Given the description of an element on the screen output the (x, y) to click on. 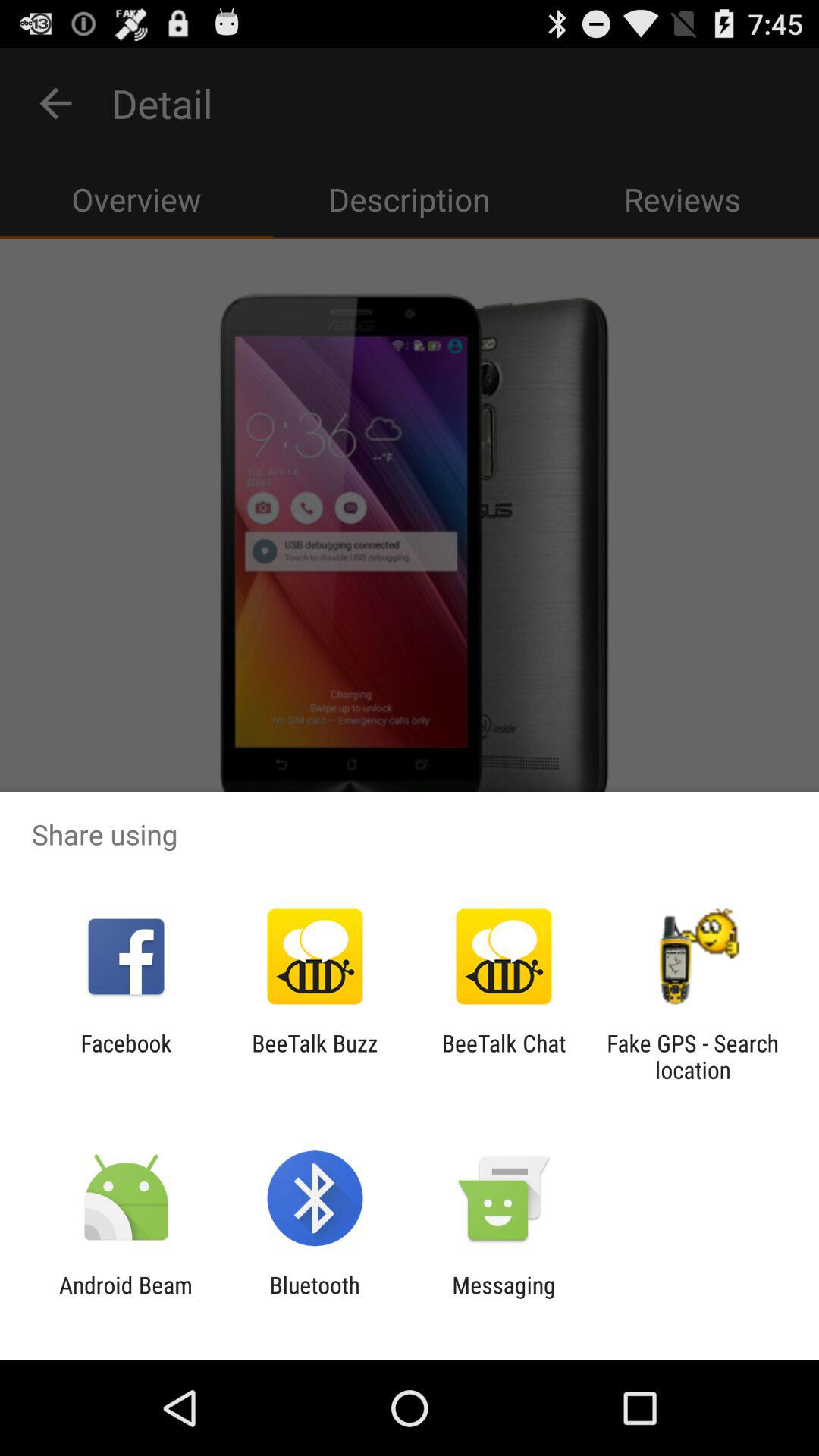
click facebook icon (125, 1056)
